Given the description of an element on the screen output the (x, y) to click on. 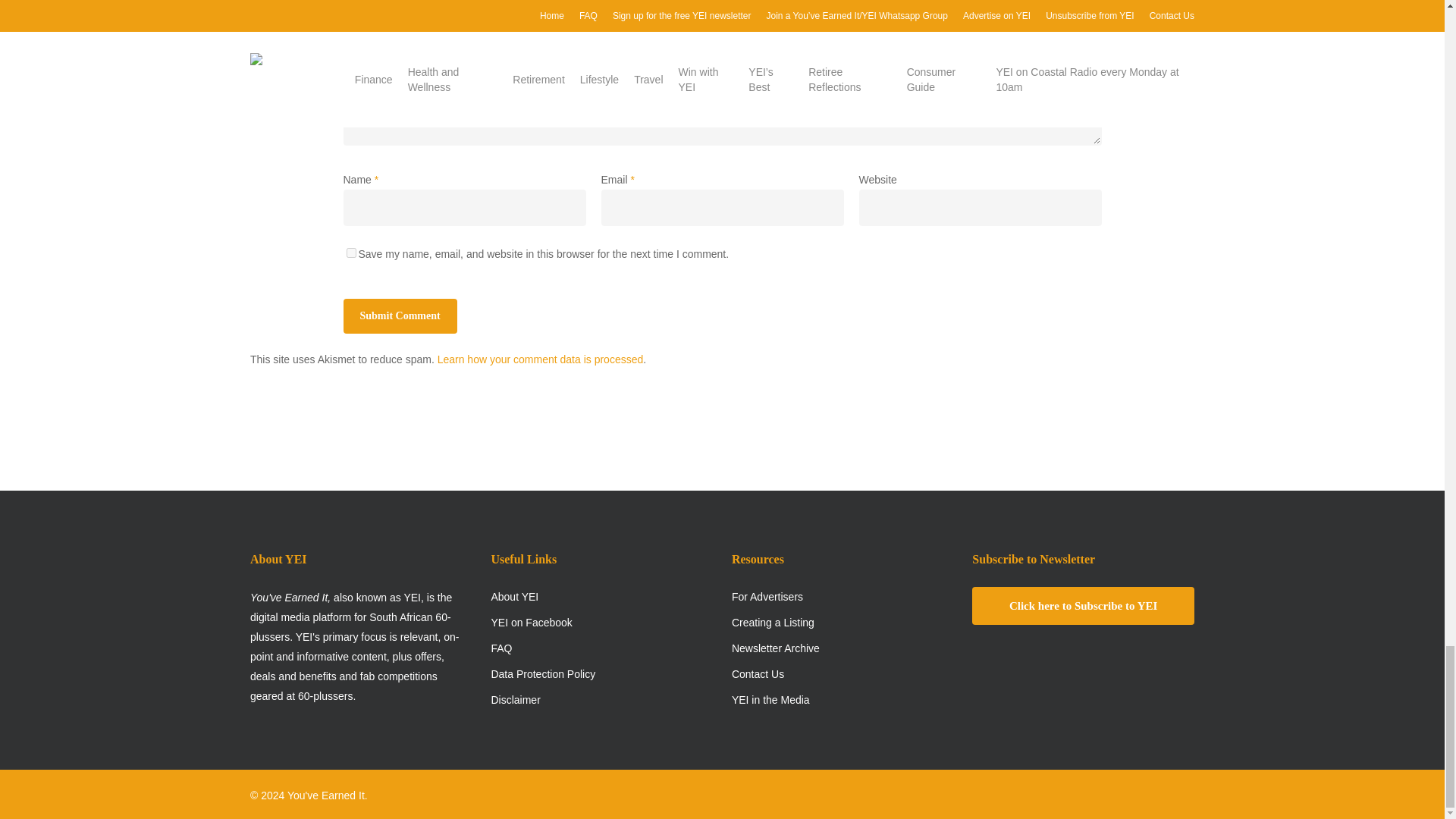
Data Protection Policy (601, 673)
About YEI (601, 596)
Submit Comment (399, 315)
FAQ (601, 648)
Learn how your comment data is processed (540, 358)
YEI on Facebook (601, 622)
yes (350, 252)
Submit Comment (399, 315)
